Given the description of an element on the screen output the (x, y) to click on. 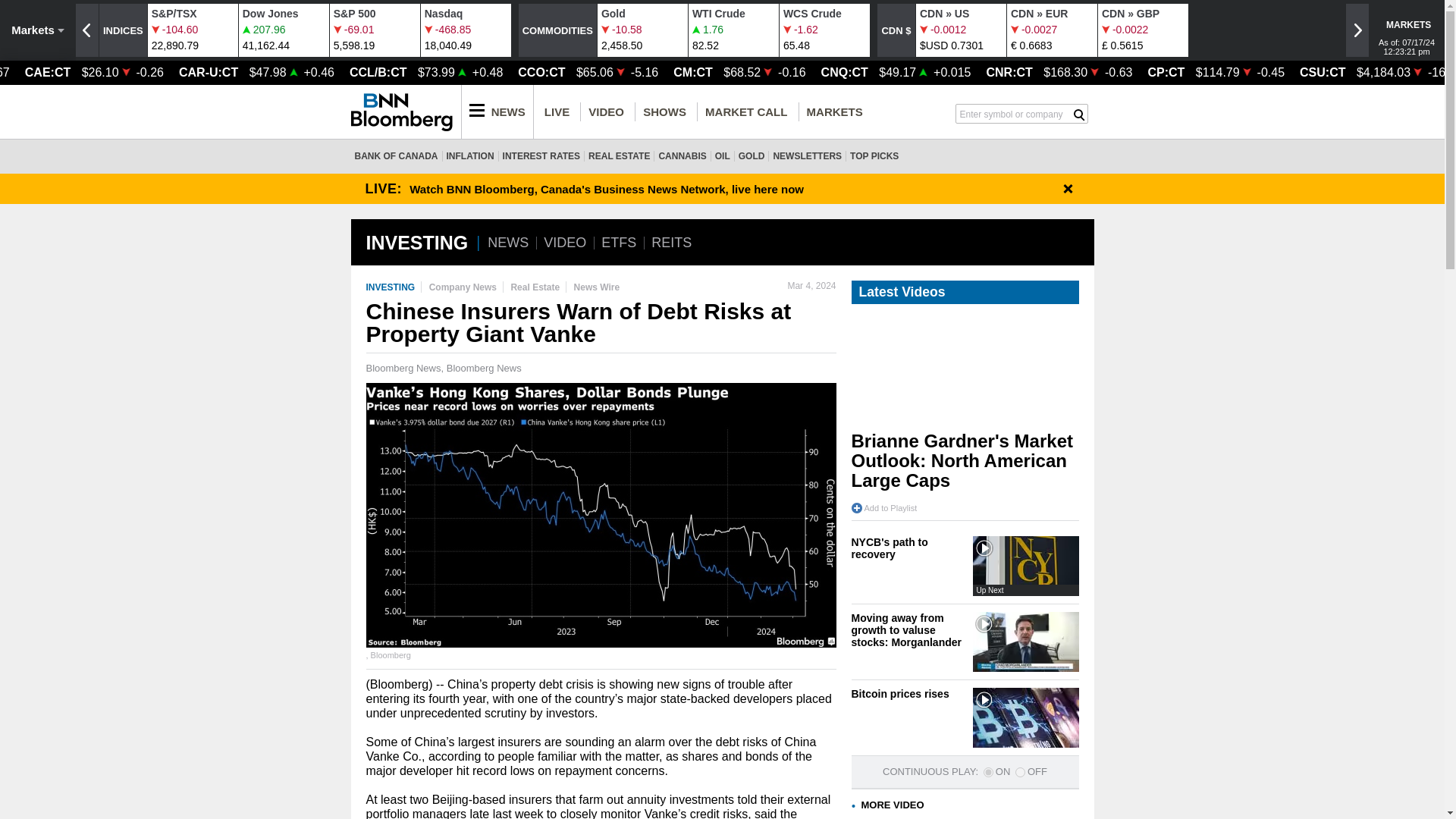
Search (1079, 114)
Search (642, 29)
MARKETS (283, 29)
-0.67 (1079, 114)
, Bloomberg (1408, 24)
Enter symbol or company (5, 72)
true (465, 29)
false (600, 515)
Enter symbol or company (1014, 112)
